Given the description of an element on the screen output the (x, y) to click on. 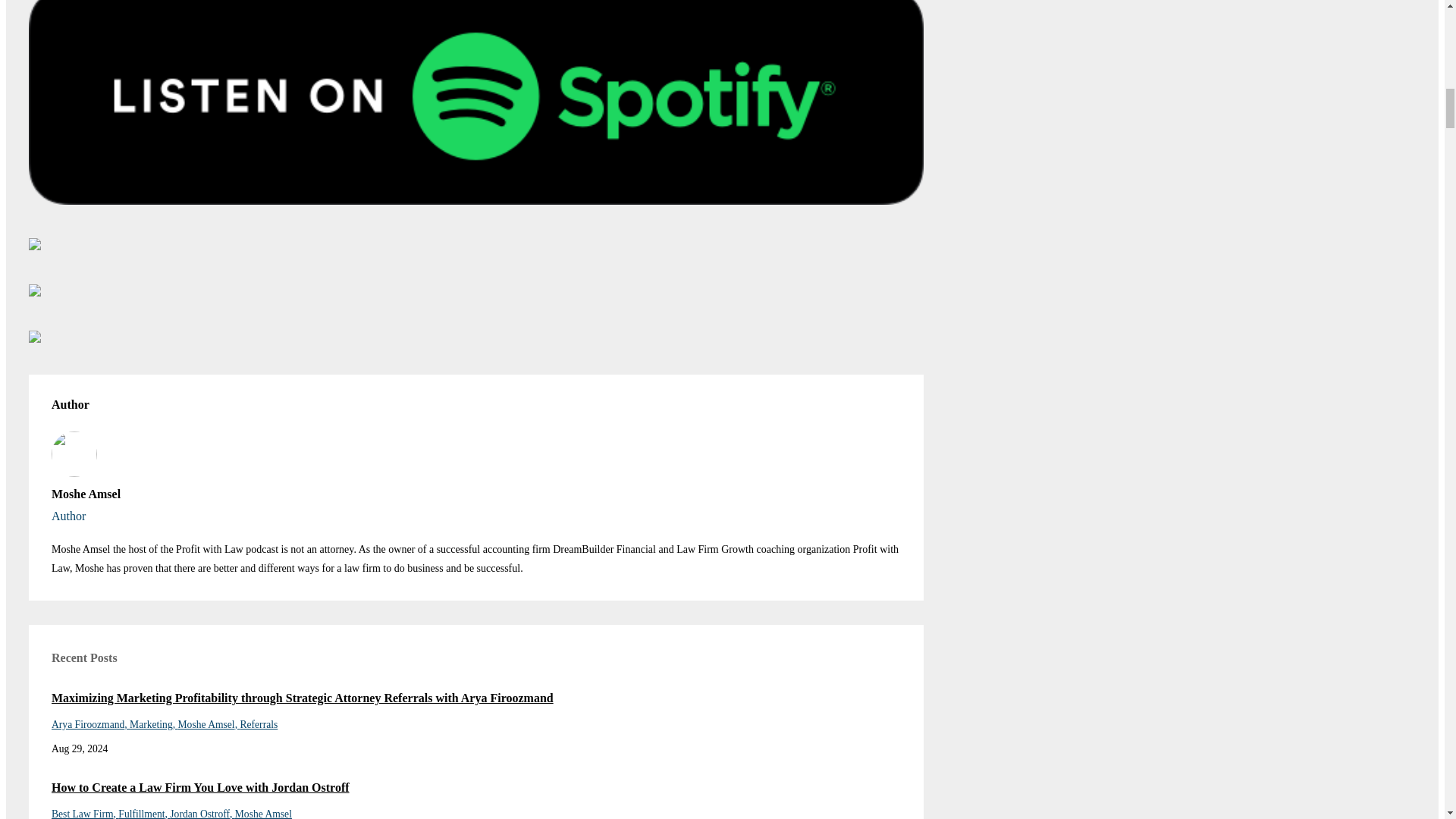
Marketing (153, 724)
Jordan Ostroff (202, 813)
Moshe Amsel (263, 813)
Best Law Firm (83, 813)
How to Create a Law Firm You Love with Jordan Ostroff (475, 788)
Arya Firoozmand (89, 724)
Referrals (259, 724)
Fulfillment (143, 813)
Moshe Amsel (208, 724)
